Given the description of an element on the screen output the (x, y) to click on. 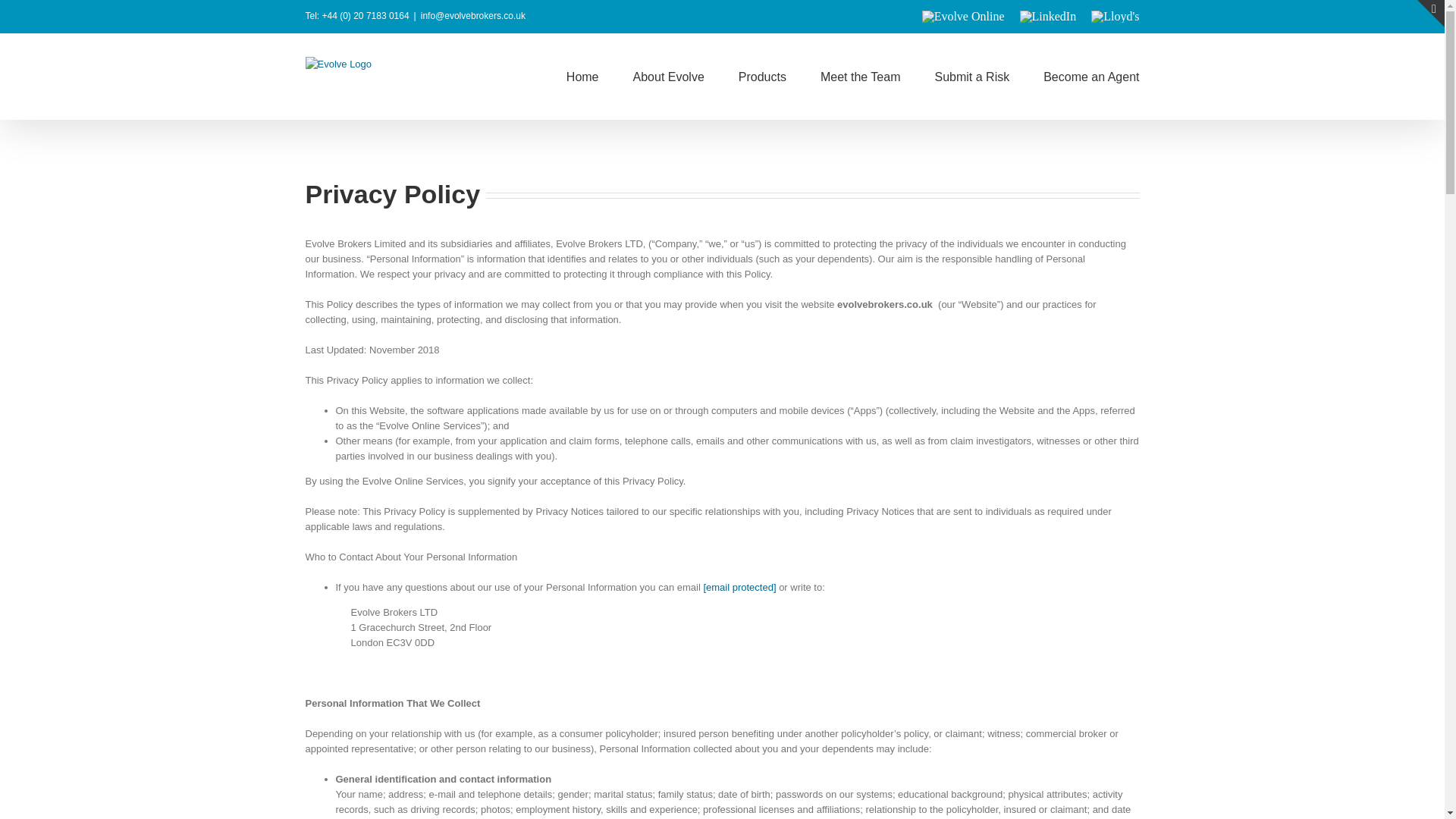
Evolve Online (962, 16)
Submit a Risk (971, 75)
Evolve Online (962, 16)
Lloyd's (1114, 16)
Become an Agent (1090, 75)
Products (762, 75)
LinkedIn (1048, 16)
Home (582, 75)
Lloyd's (1114, 16)
Meet the Team (861, 75)
About Evolve (668, 75)
LinkedIn (1048, 16)
